Given the description of an element on the screen output the (x, y) to click on. 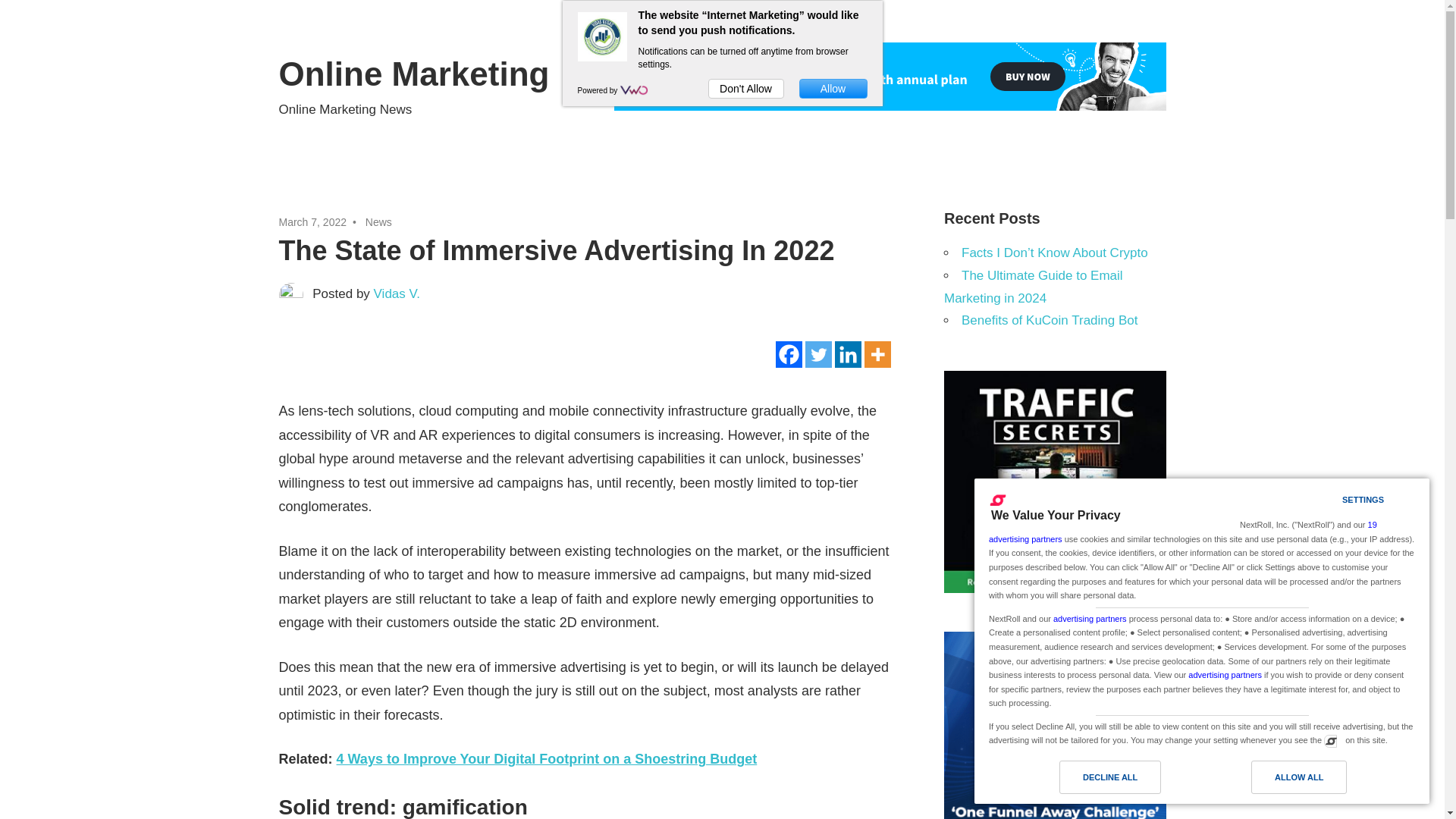
View all posts by Vidas V. (397, 293)
Benefits of KuCoin Trading Bot (1048, 319)
The Ultimate Guide to Email Marketing in 2024 (1032, 286)
Allow (833, 88)
Facebook (789, 354)
Don't Allow (745, 88)
Online Marketing (414, 73)
News (378, 222)
Twitter (818, 354)
Vidas V. (397, 293)
More (877, 354)
Powered by (599, 90)
8:00 pm (313, 222)
